Given the description of an element on the screen output the (x, y) to click on. 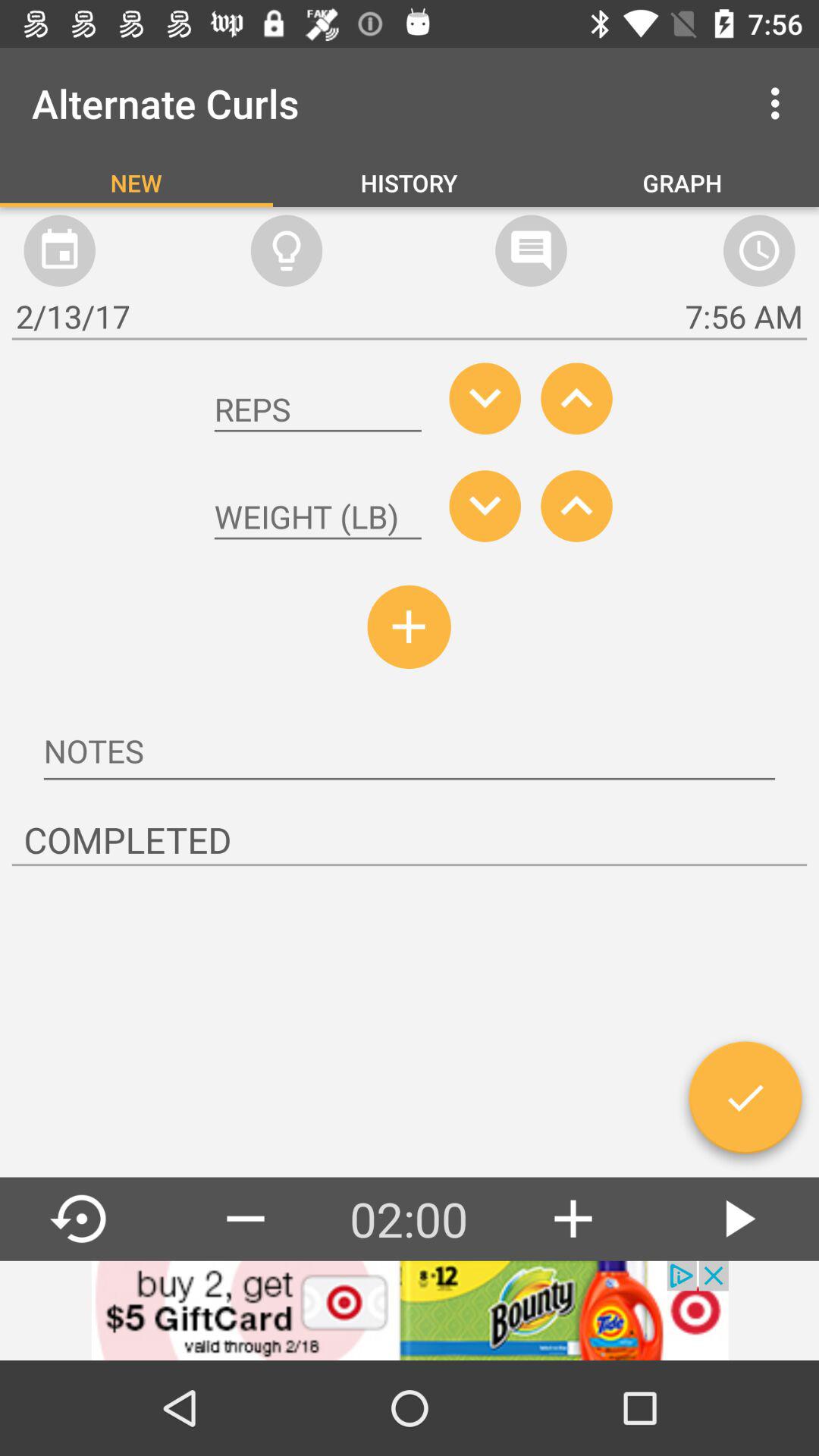
enter notes (409, 752)
